Given the description of an element on the screen output the (x, y) to click on. 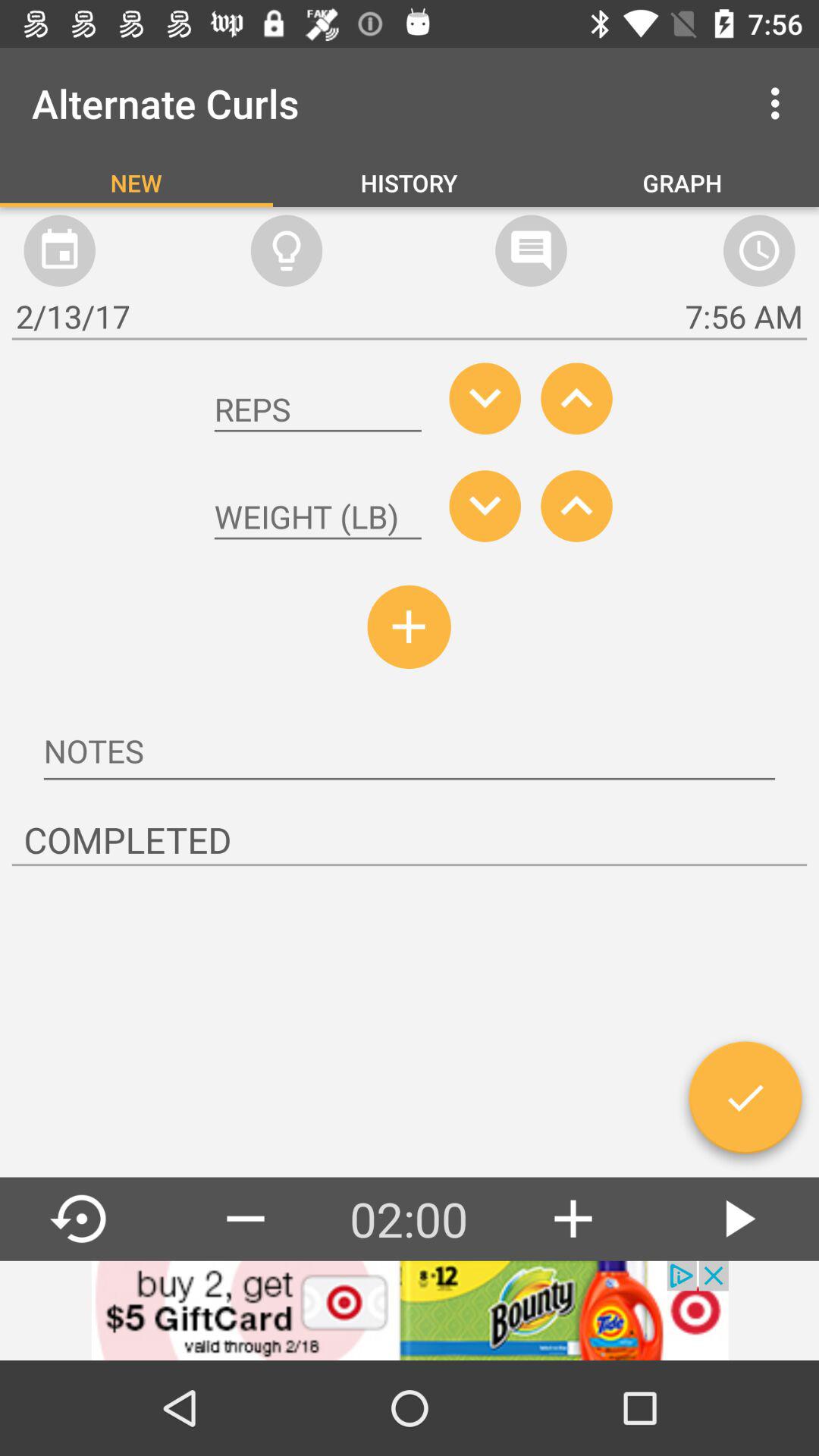
enter notes (409, 752)
